Given the description of an element on the screen output the (x, y) to click on. 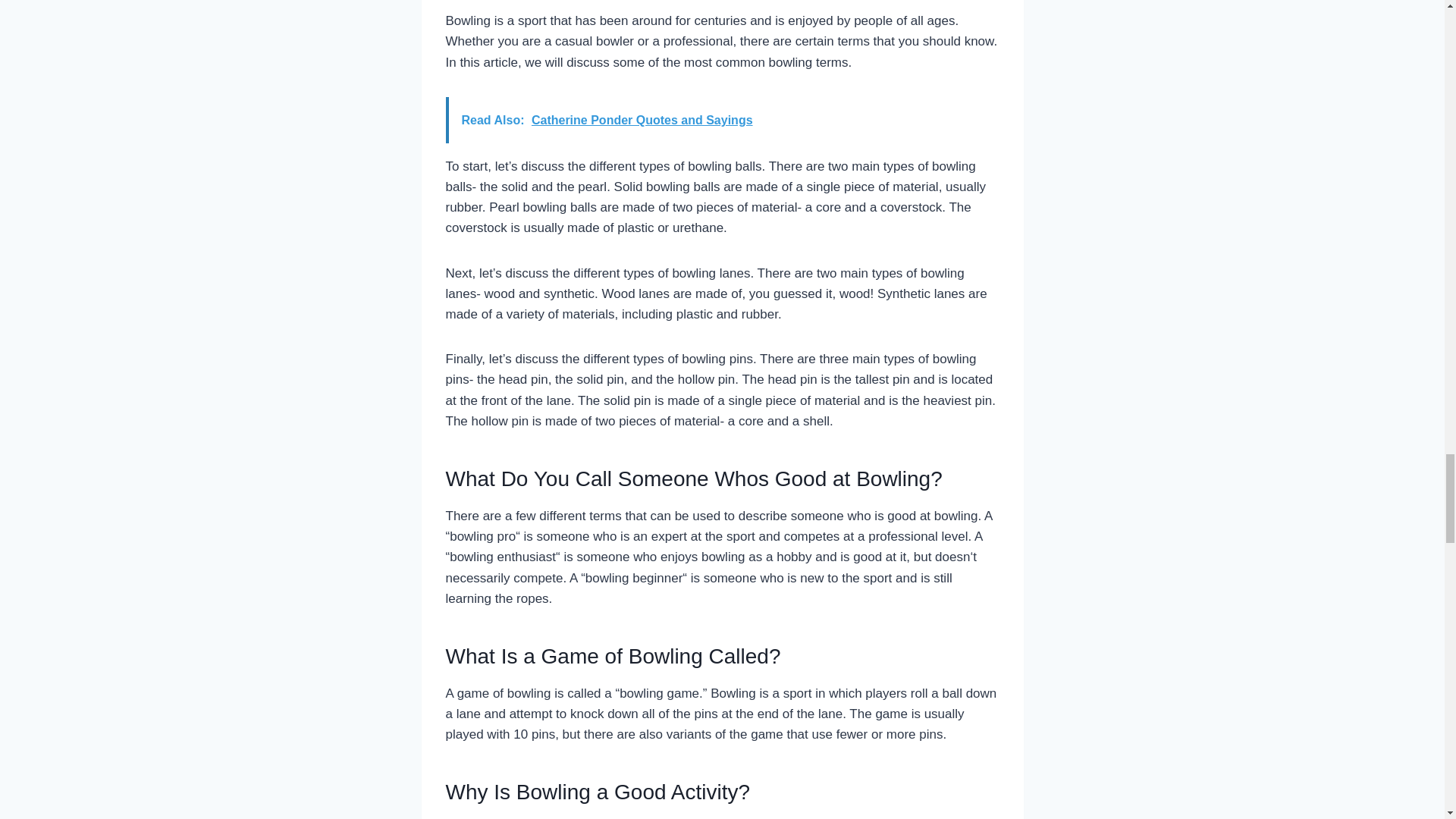
Read Also:  Catherine Ponder Quotes and Sayings (721, 120)
